Given the description of an element on the screen output the (x, y) to click on. 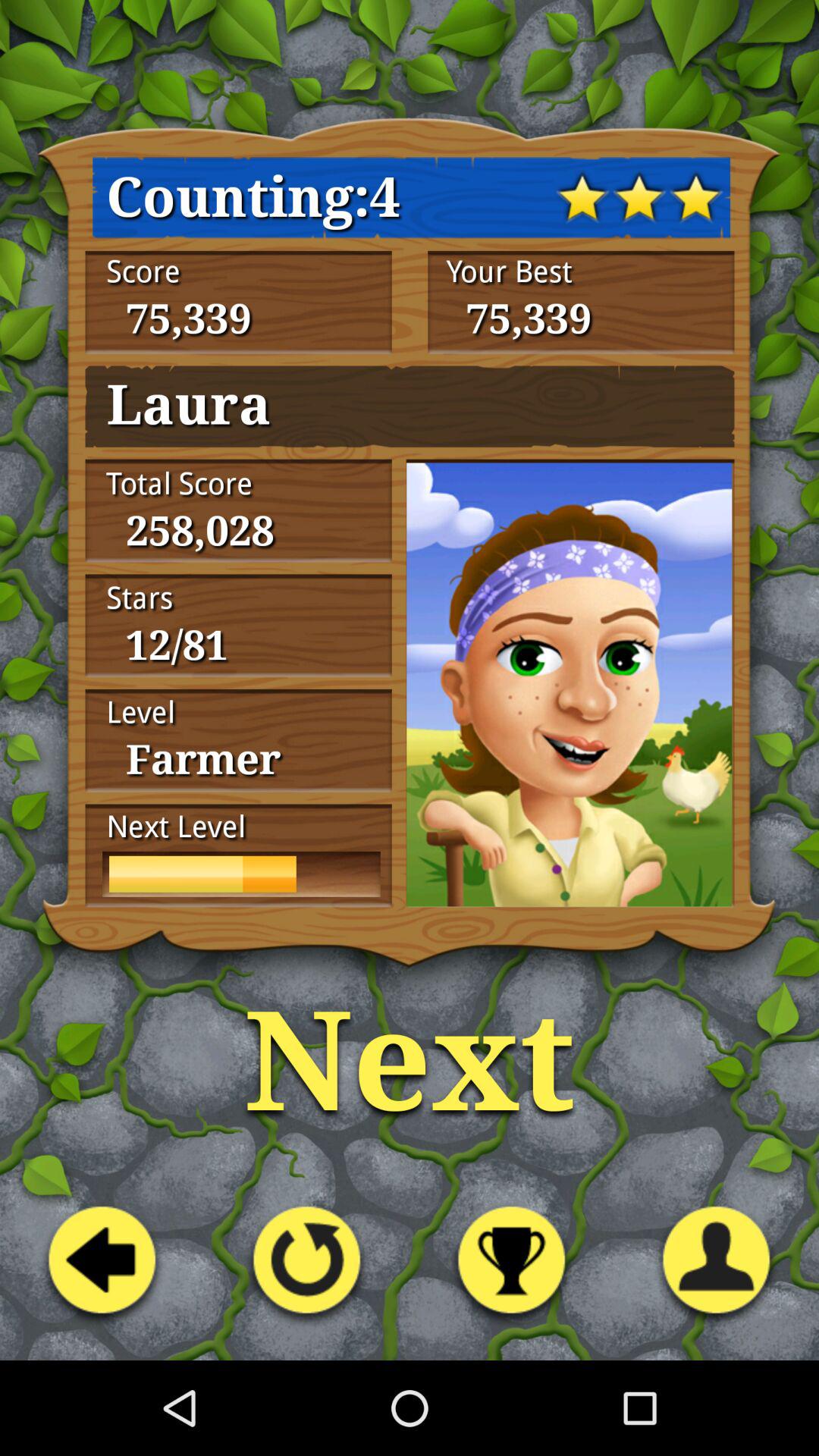
select the middle star at top of the page (639, 196)
select the third star symbol at the top right corner of the page (696, 196)
click on the second button from the left at the bottom of the page (306, 1265)
